Given the description of an element on the screen output the (x, y) to click on. 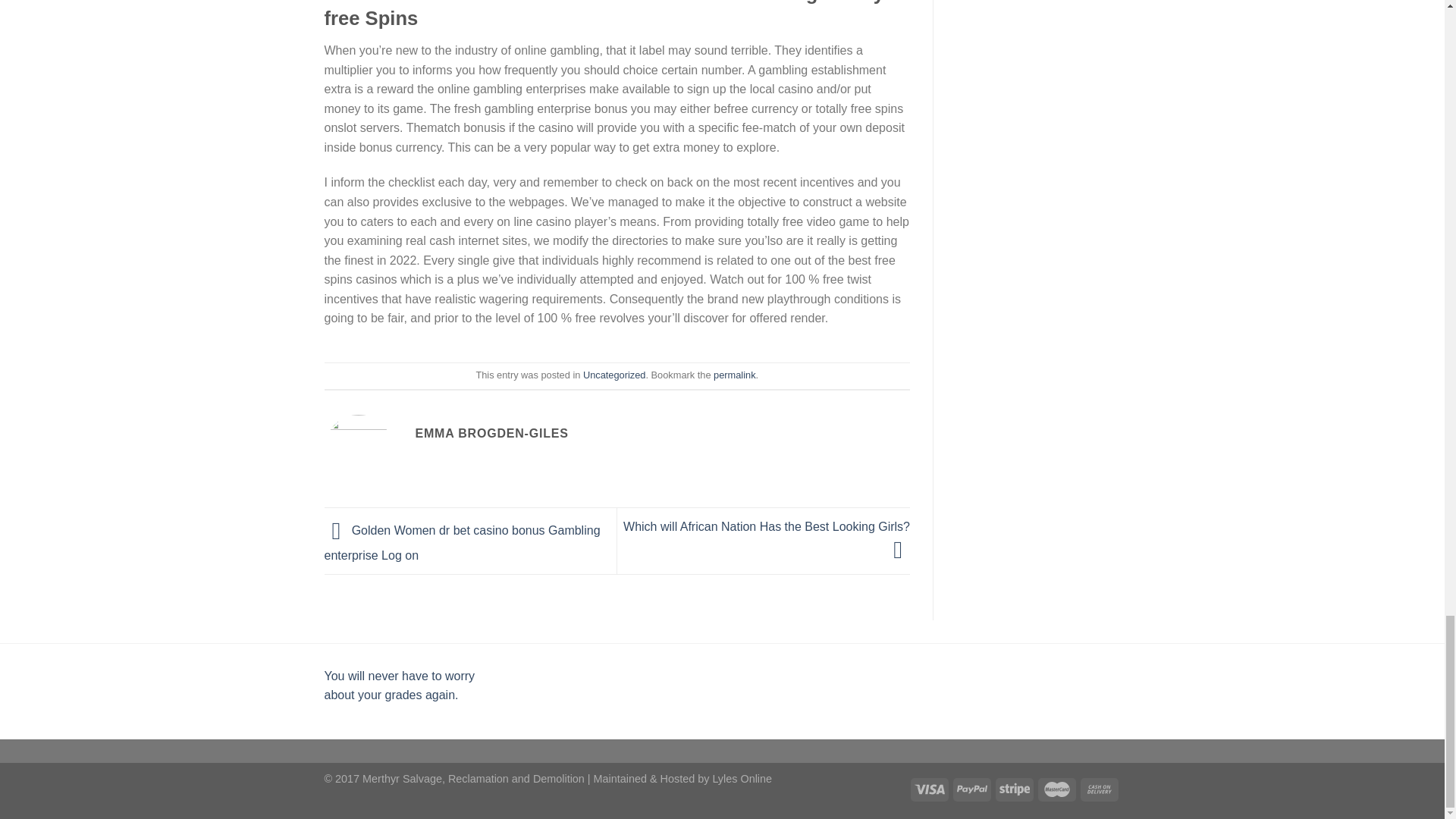
Golden Women dr bet casino bonus Gambling enterprise Log on (461, 542)
permalink (734, 374)
Which will African Nation Has the Best Looking Girls? (766, 538)
Uncategorized (614, 374)
